Given the description of an element on the screen output the (x, y) to click on. 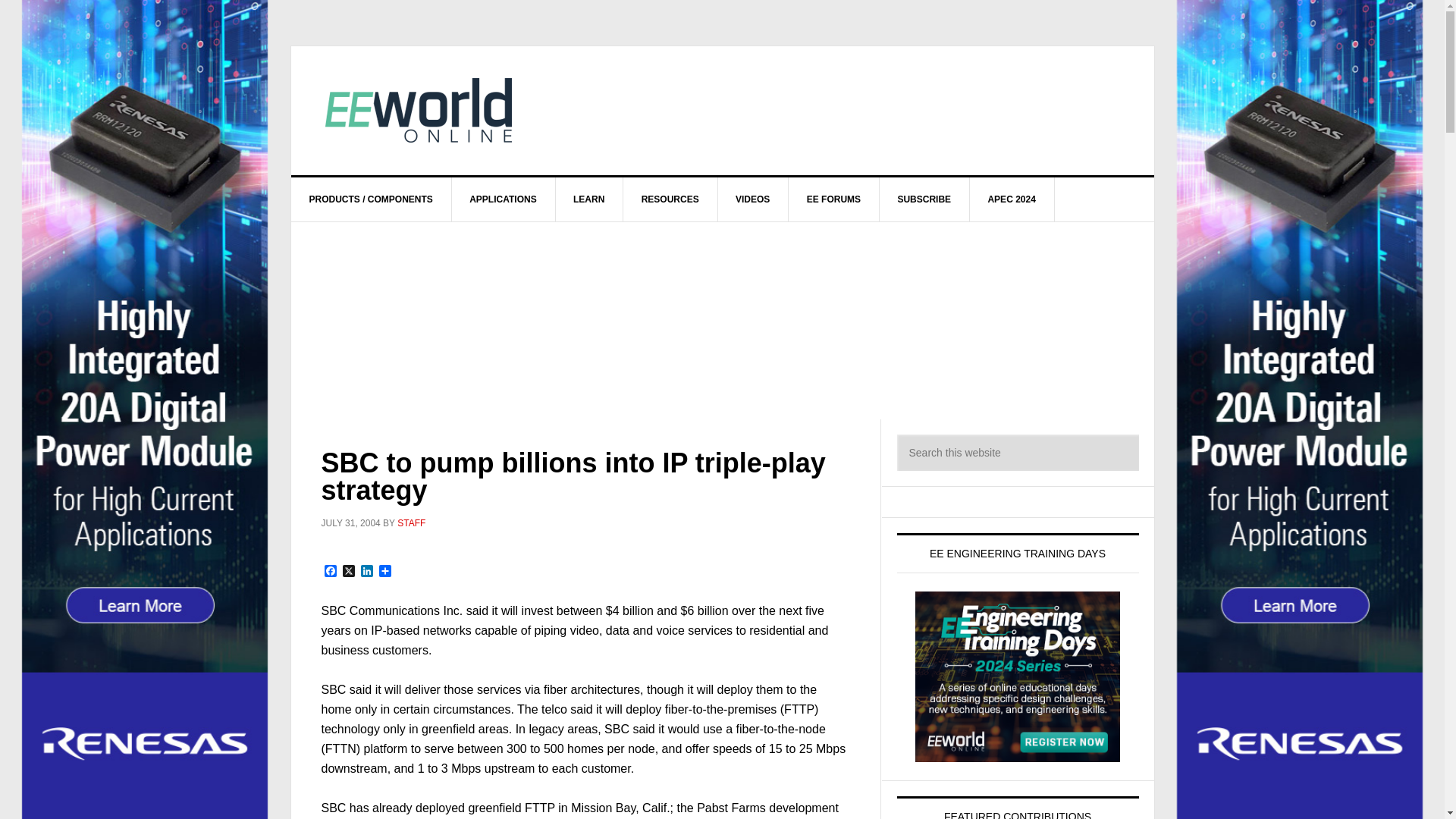
LinkedIn (366, 572)
APPLICATIONS (502, 199)
LEARN (588, 199)
RESOURCES (670, 199)
X (348, 572)
ELECTRICAL ENGINEERING NEWS AND PRODUCTS (419, 110)
Facebook (330, 572)
3rd party ad content (848, 110)
